Given the description of an element on the screen output the (x, y) to click on. 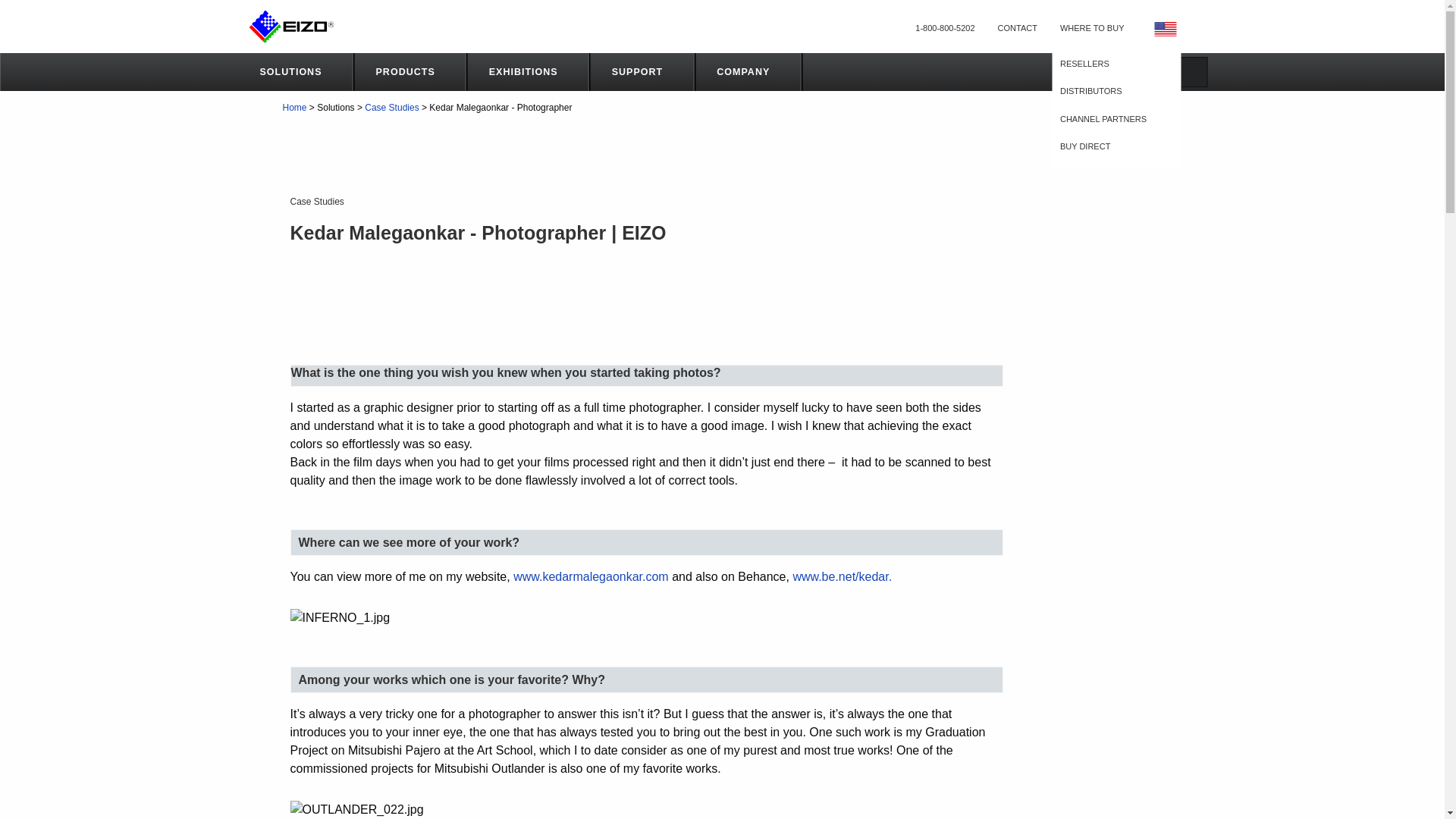
CHANNEL PARTNERS (1109, 119)
DISTRIBUTORS (1109, 90)
1-800-800-5202 (944, 28)
BUY DIRECT (1109, 146)
WHERE TO BUY (1092, 28)
CONTACT (1017, 28)
RESELLERS (1109, 63)
